Given the description of an element on the screen output the (x, y) to click on. 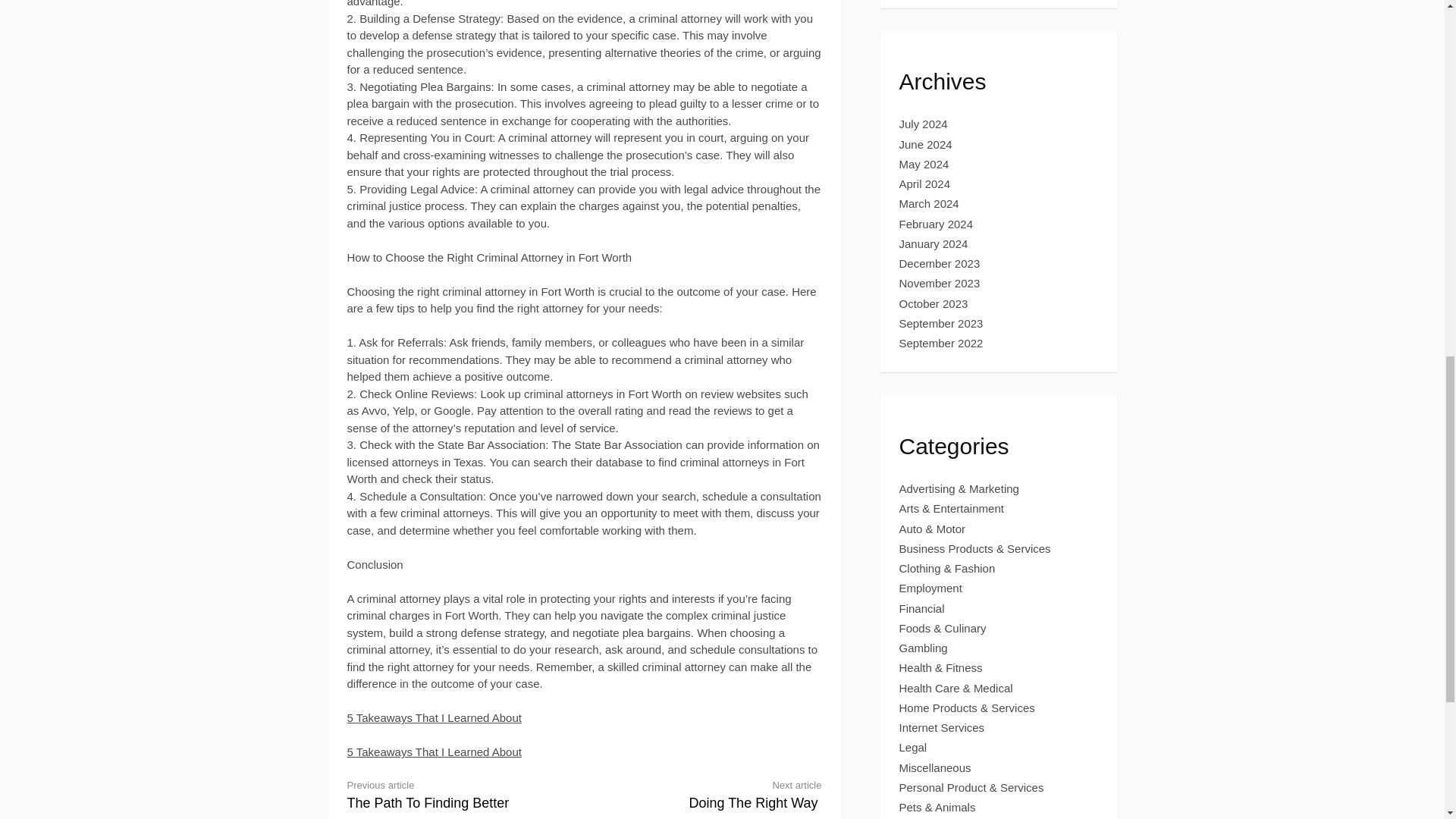
Employment (715, 794)
May 2024 (930, 587)
February 2024 (924, 164)
December 2023 (936, 223)
January 2024 (939, 263)
November 2023 (933, 243)
5 Takeaways That I Learned About (939, 282)
September 2022 (434, 751)
July 2024 (941, 342)
